Given the description of an element on the screen output the (x, y) to click on. 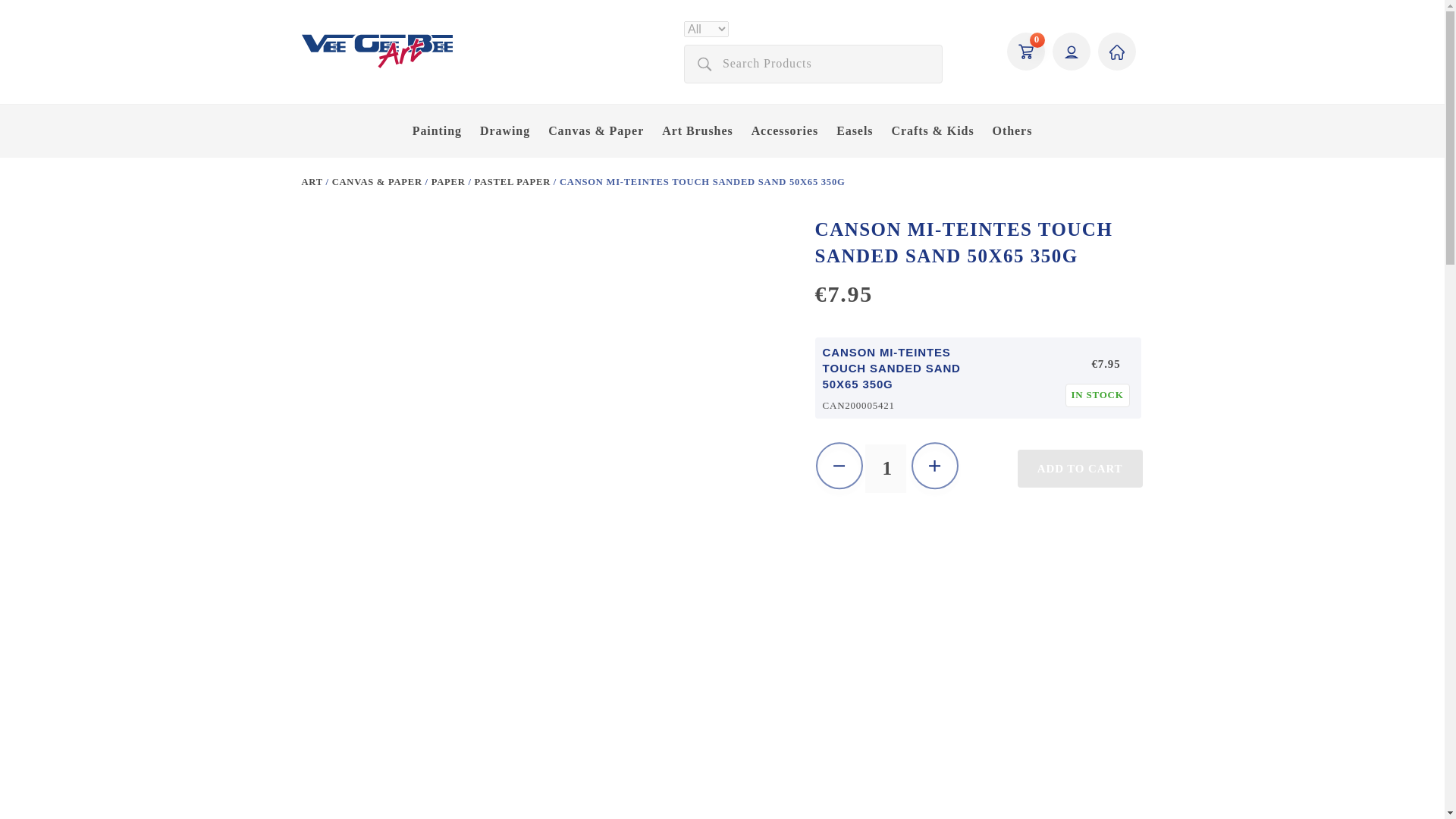
Basket (1026, 51)
Qty (887, 468)
1 (887, 468)
